Given the description of an element on the screen output the (x, y) to click on. 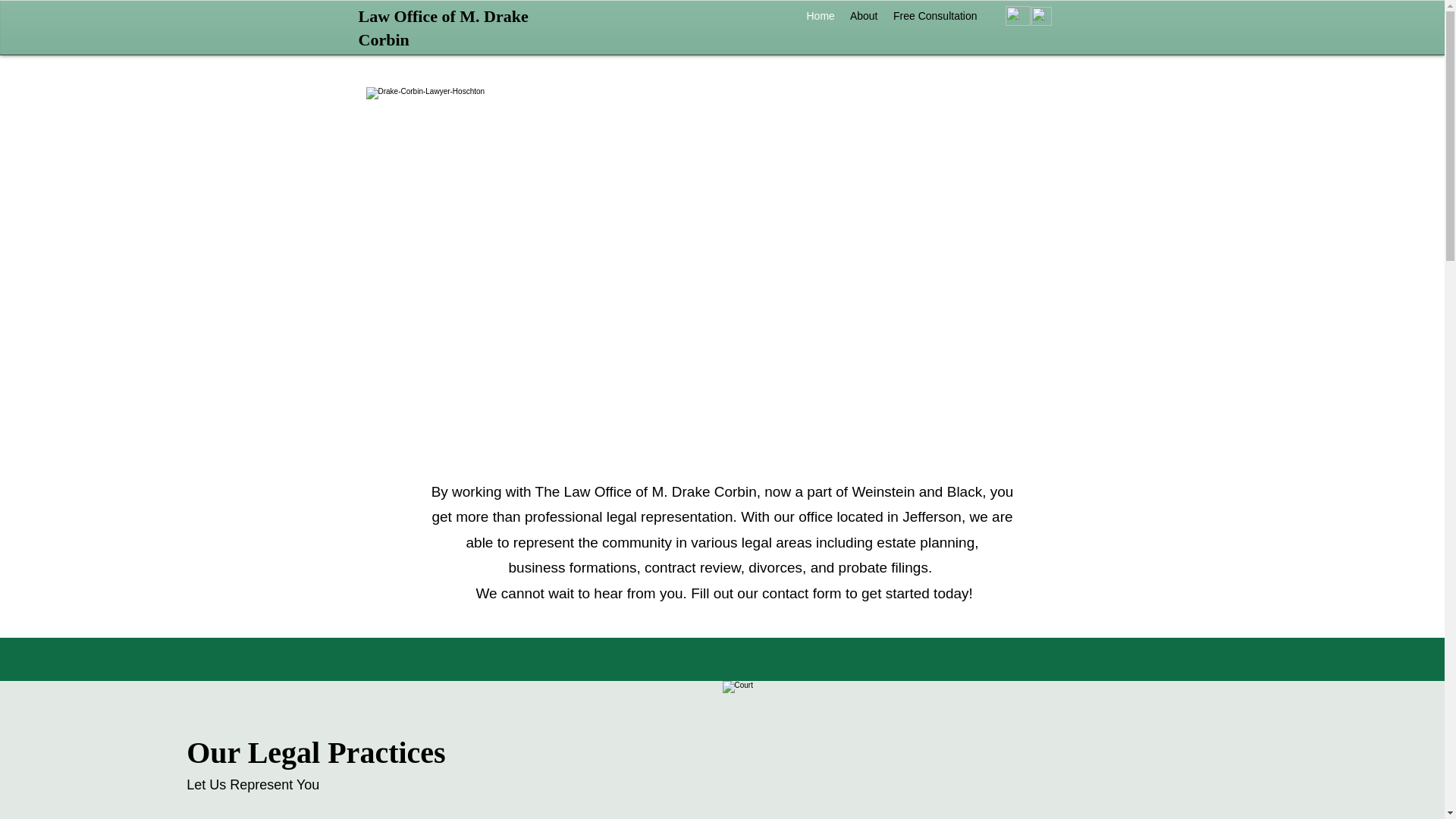
Free Consultation (935, 15)
Law Office of M. Drake Corbin (442, 27)
About (863, 15)
Home (821, 15)
